Given the description of an element on the screen output the (x, y) to click on. 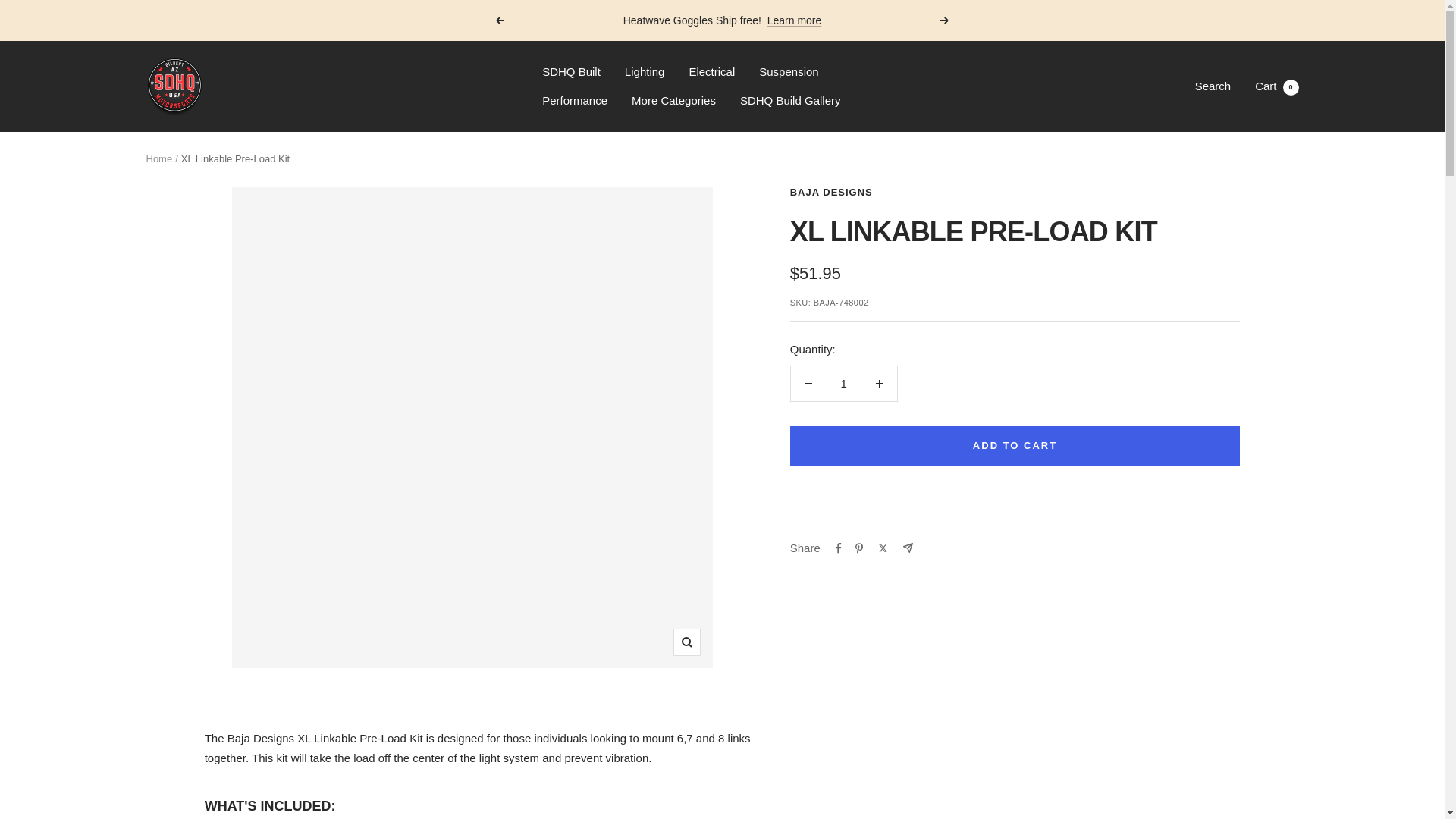
SDHQ Built (570, 71)
Decrease quantity (807, 383)
BAJA DESIGNS (831, 192)
SDHQ (173, 86)
Learn more (794, 20)
Suspension (788, 71)
SDHQ Build Gallery (790, 100)
Previous (499, 20)
Search (1213, 85)
ADD TO CART (1015, 445)
Lighting (644, 71)
Increase quantity (878, 383)
More Categories (673, 100)
Next (944, 20)
Performance (574, 100)
